Given the description of an element on the screen output the (x, y) to click on. 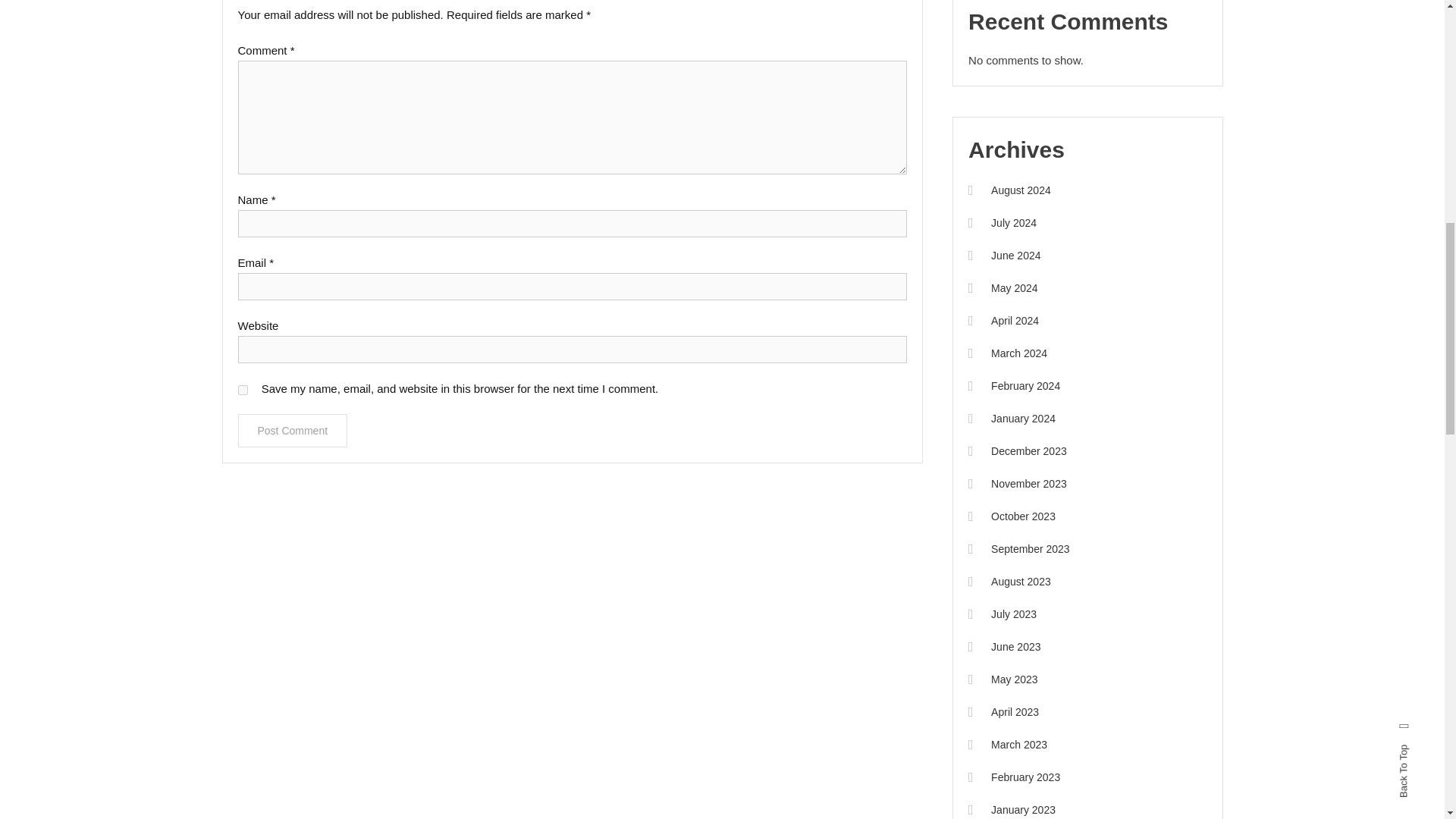
Post Comment (292, 430)
Post Comment (292, 430)
yes (242, 389)
